Given the description of an element on the screen output the (x, y) to click on. 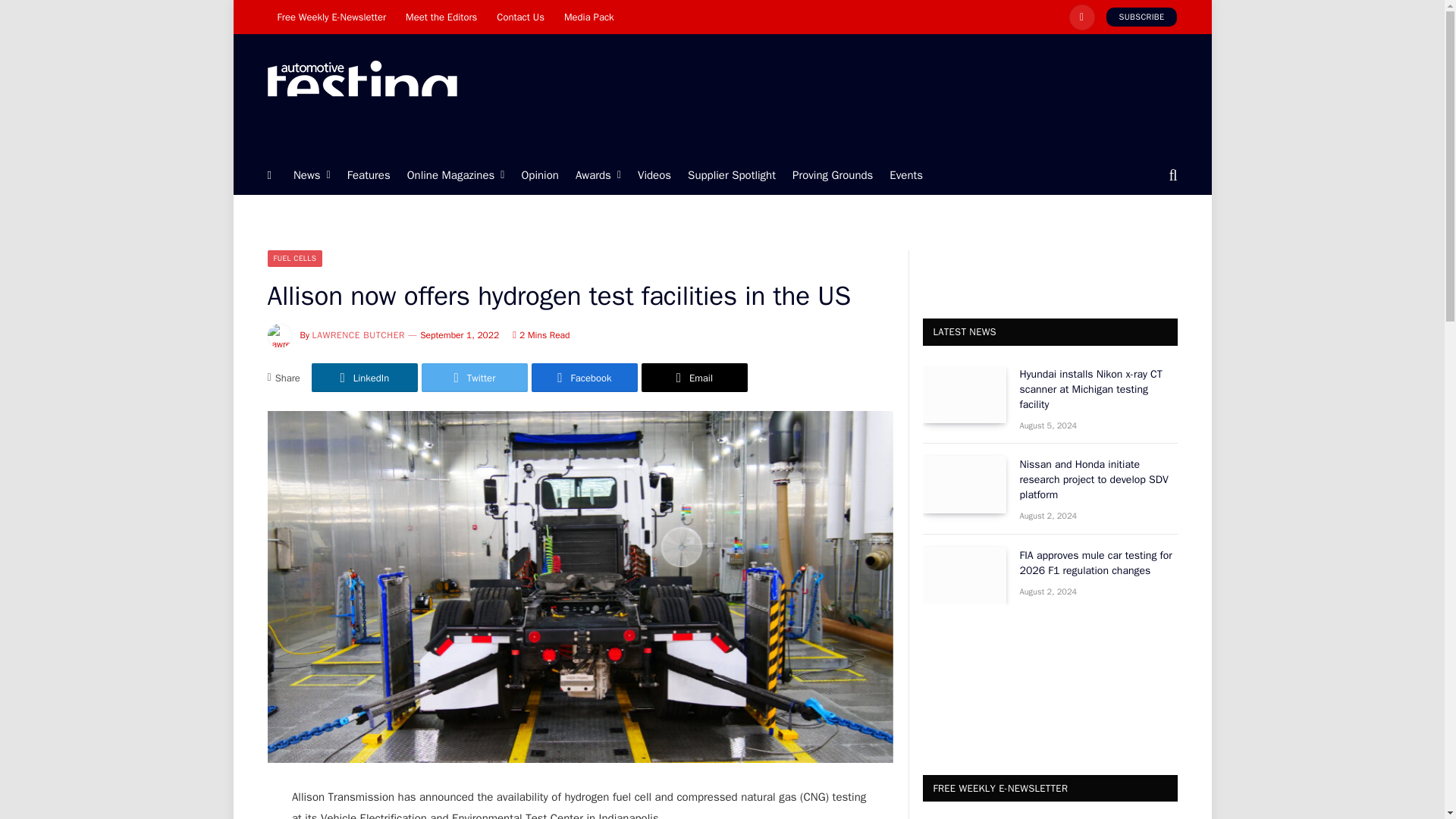
Share via Email (695, 377)
Automotive Testing Technology International (361, 94)
Posts by Lawrence Butcher (359, 335)
Share on LinkedIn (364, 377)
Share on Facebook (584, 377)
